Given the description of an element on the screen output the (x, y) to click on. 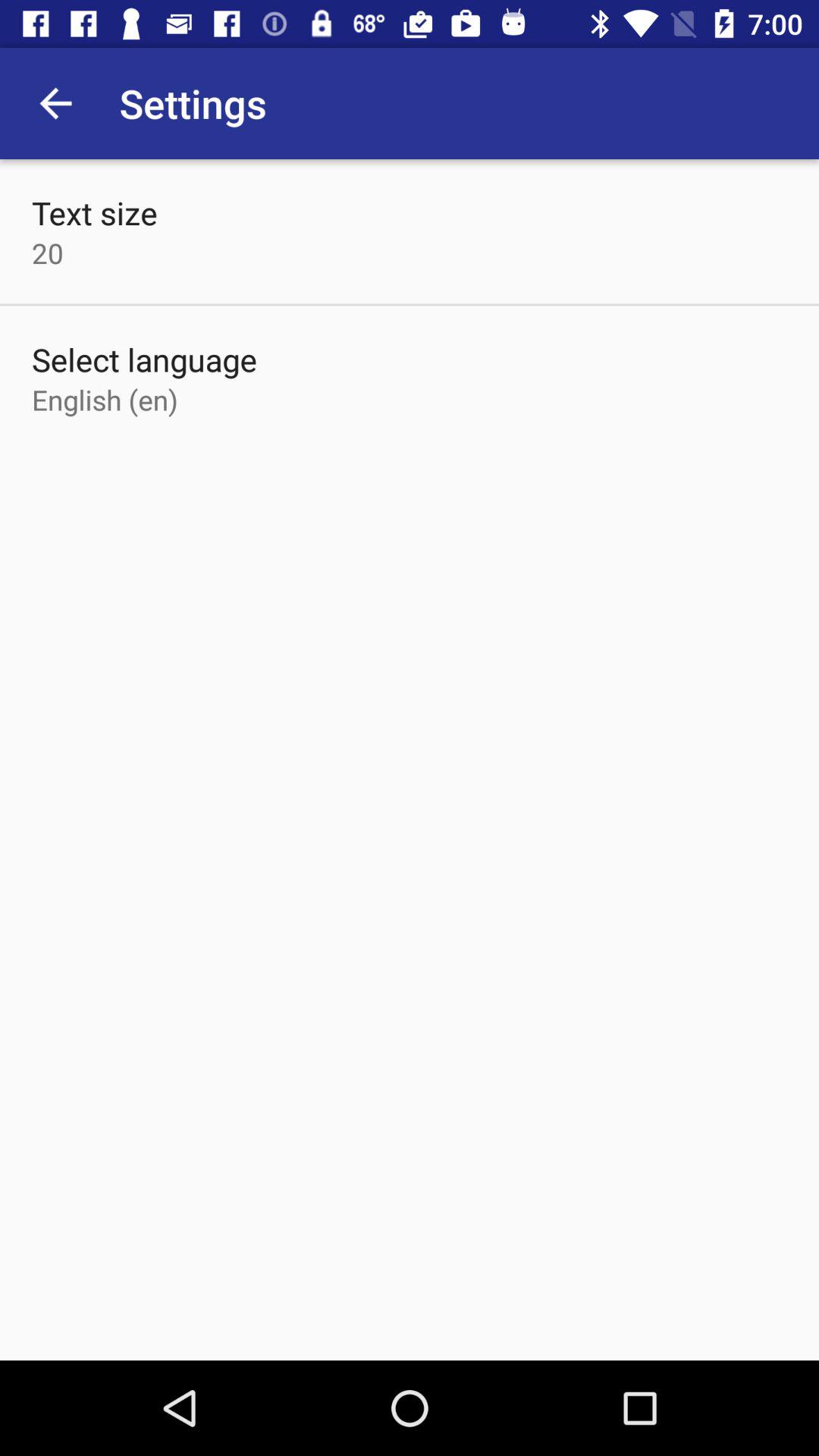
swipe to text size icon (94, 212)
